Given the description of an element on the screen output the (x, y) to click on. 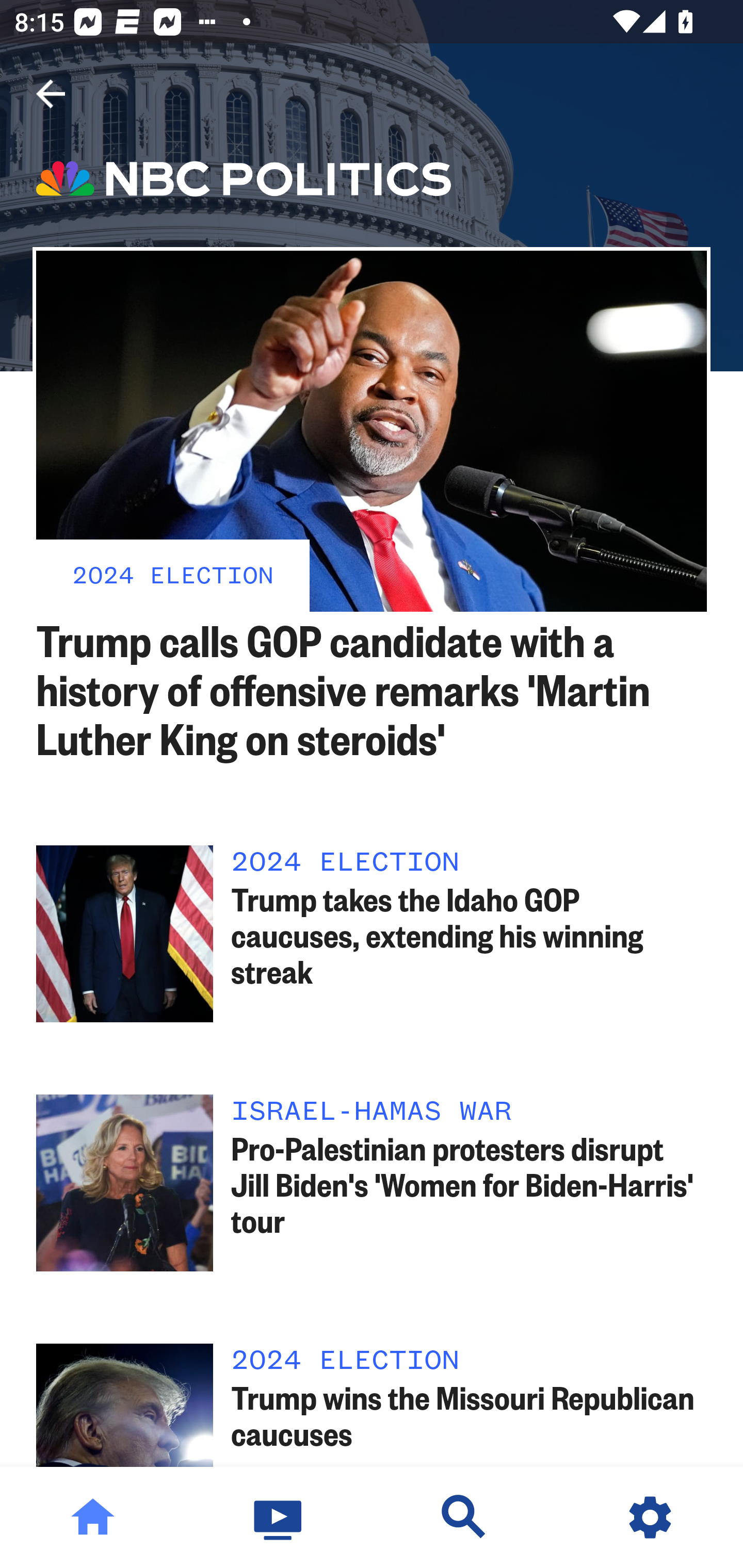
Navigate up (50, 93)
Watch (278, 1517)
Discover (464, 1517)
Settings (650, 1517)
